Given the description of an element on the screen output the (x, y) to click on. 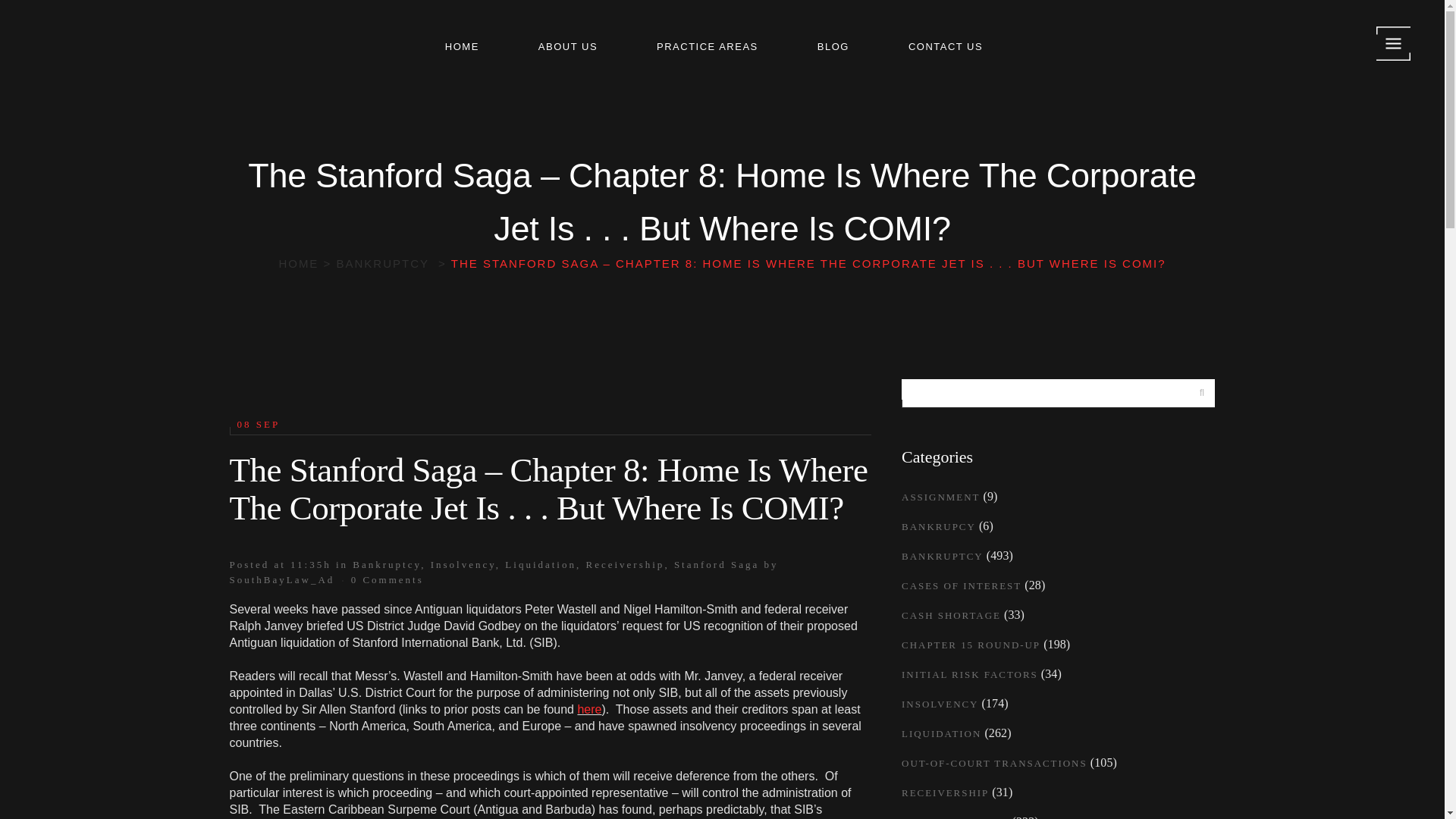
ABOUT US (575, 46)
HOME (469, 46)
BANKRUPTCY (382, 263)
HOME (298, 263)
BLOG (841, 46)
CONTACT US (953, 46)
PRACTICE AREAS (715, 46)
Insolvency (463, 564)
Bankruptcy (386, 564)
